Given the description of an element on the screen output the (x, y) to click on. 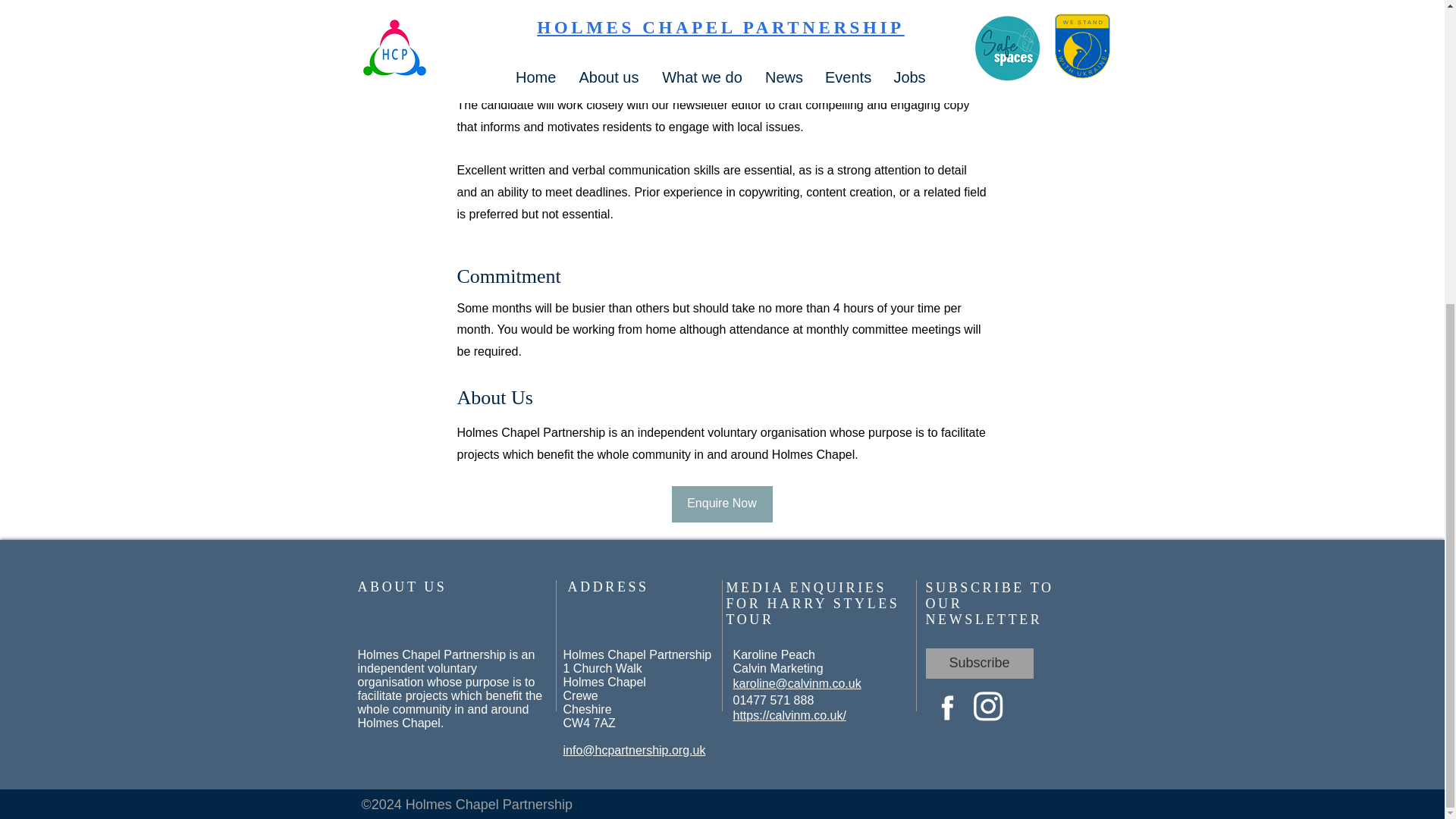
Subscribe (978, 663)
Enquire Now (722, 504)
